Given the description of an element on the screen output the (x, y) to click on. 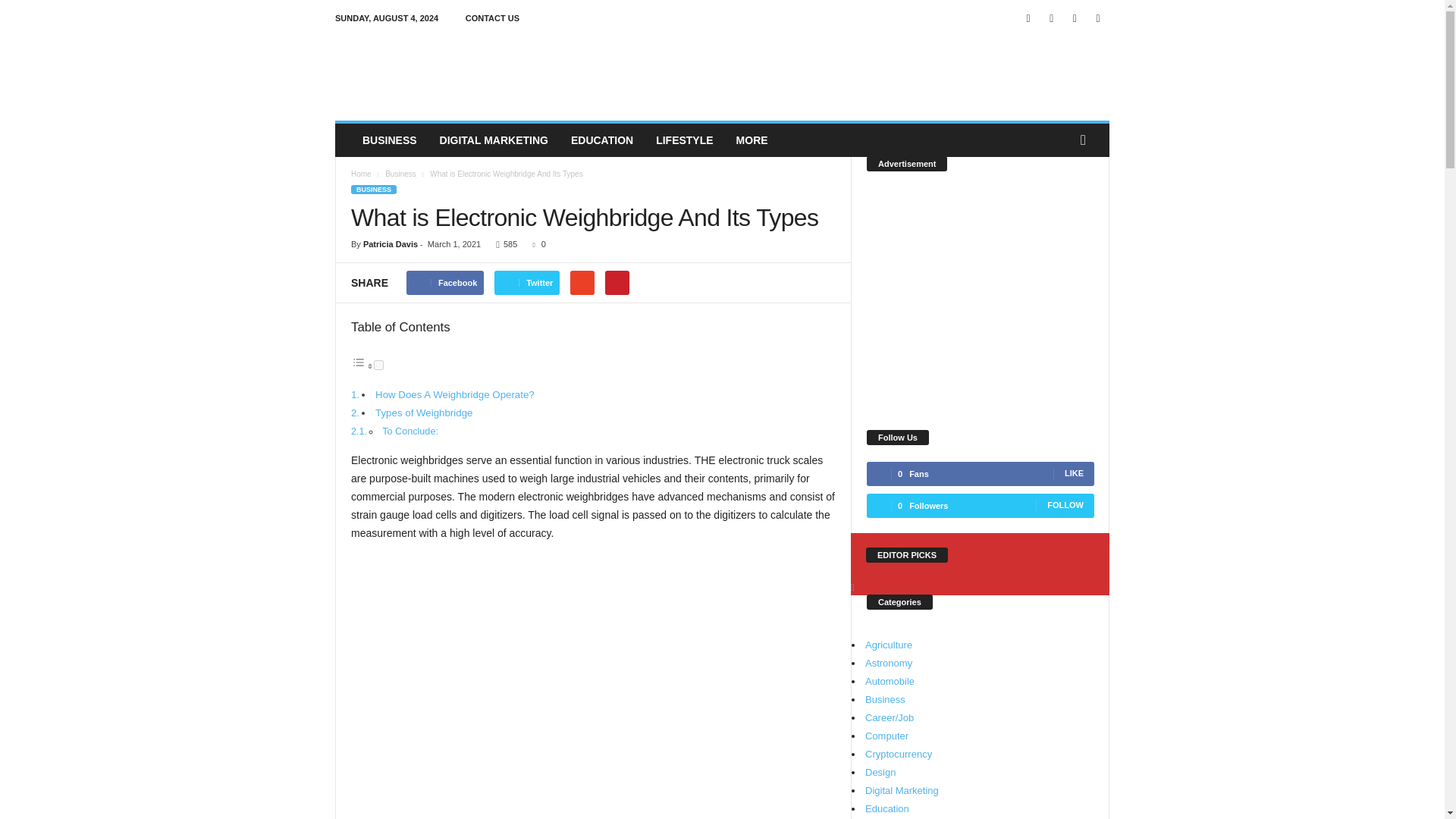
View all posts in Business (400, 173)
on (379, 365)
How Does A Weighbridge Operate? (454, 394)
Types of Weighbridge (423, 412)
To Conclude: (409, 430)
